Given the description of an element on the screen output the (x, y) to click on. 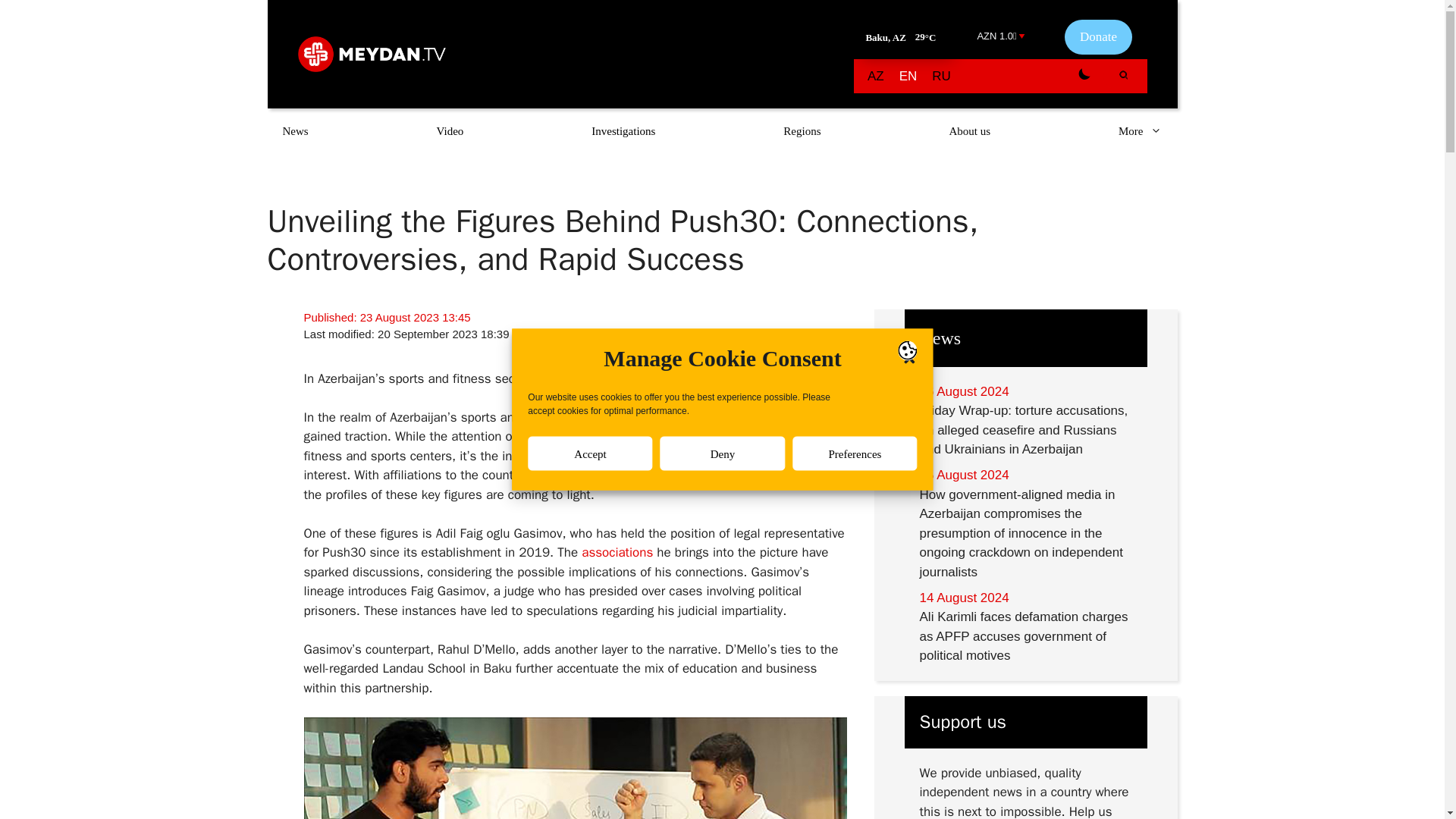
AZ (875, 75)
Preferences (854, 661)
Donate (1097, 36)
Deny (721, 691)
RU (941, 75)
EN (907, 75)
Accept (589, 725)
